Given the description of an element on the screen output the (x, y) to click on. 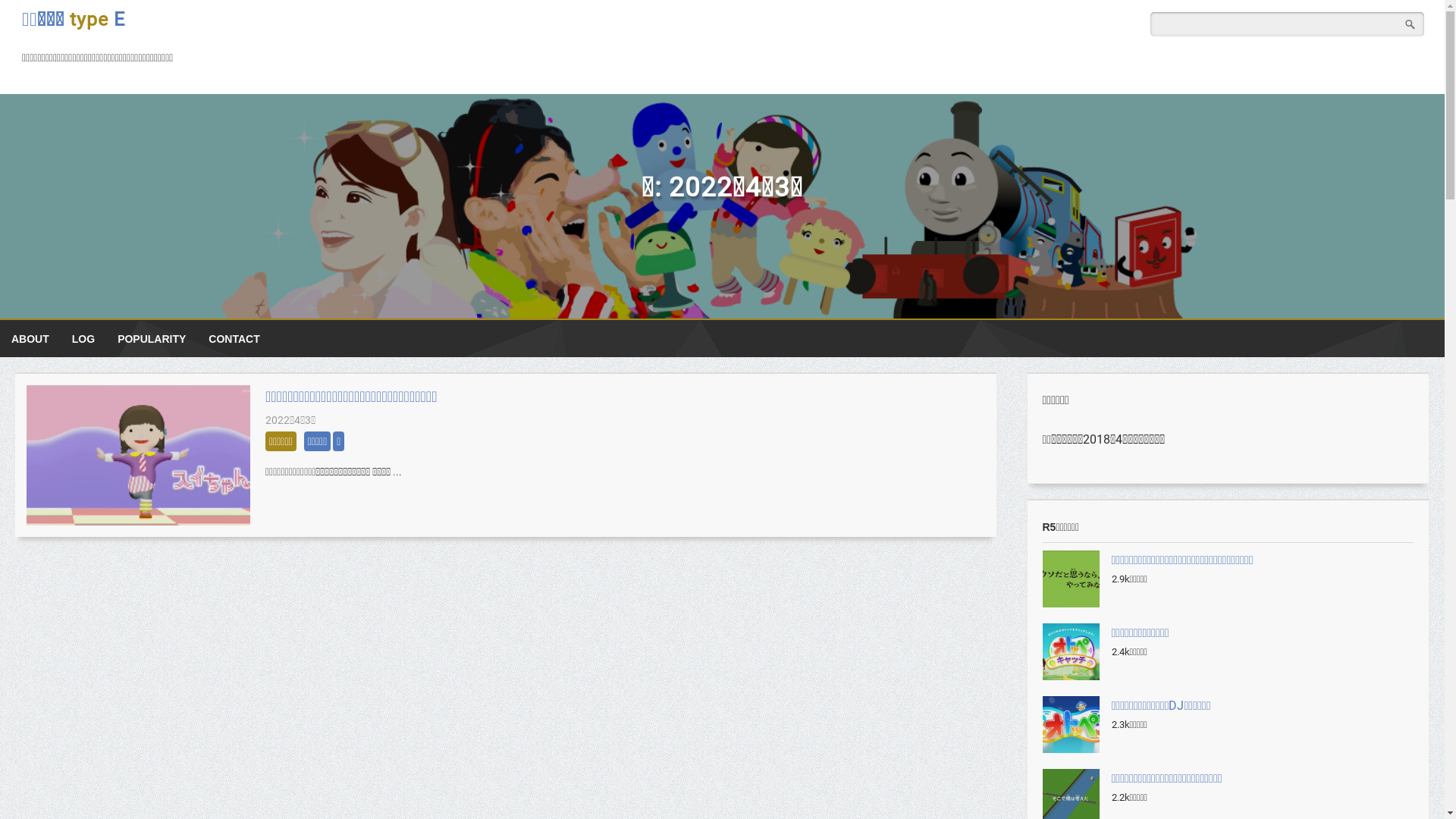
CONTACT Element type: text (233, 338)
POPULARITY Element type: text (151, 338)
LOG Element type: text (83, 338)
ABOUT Element type: text (30, 338)
